Given the description of an element on the screen output the (x, y) to click on. 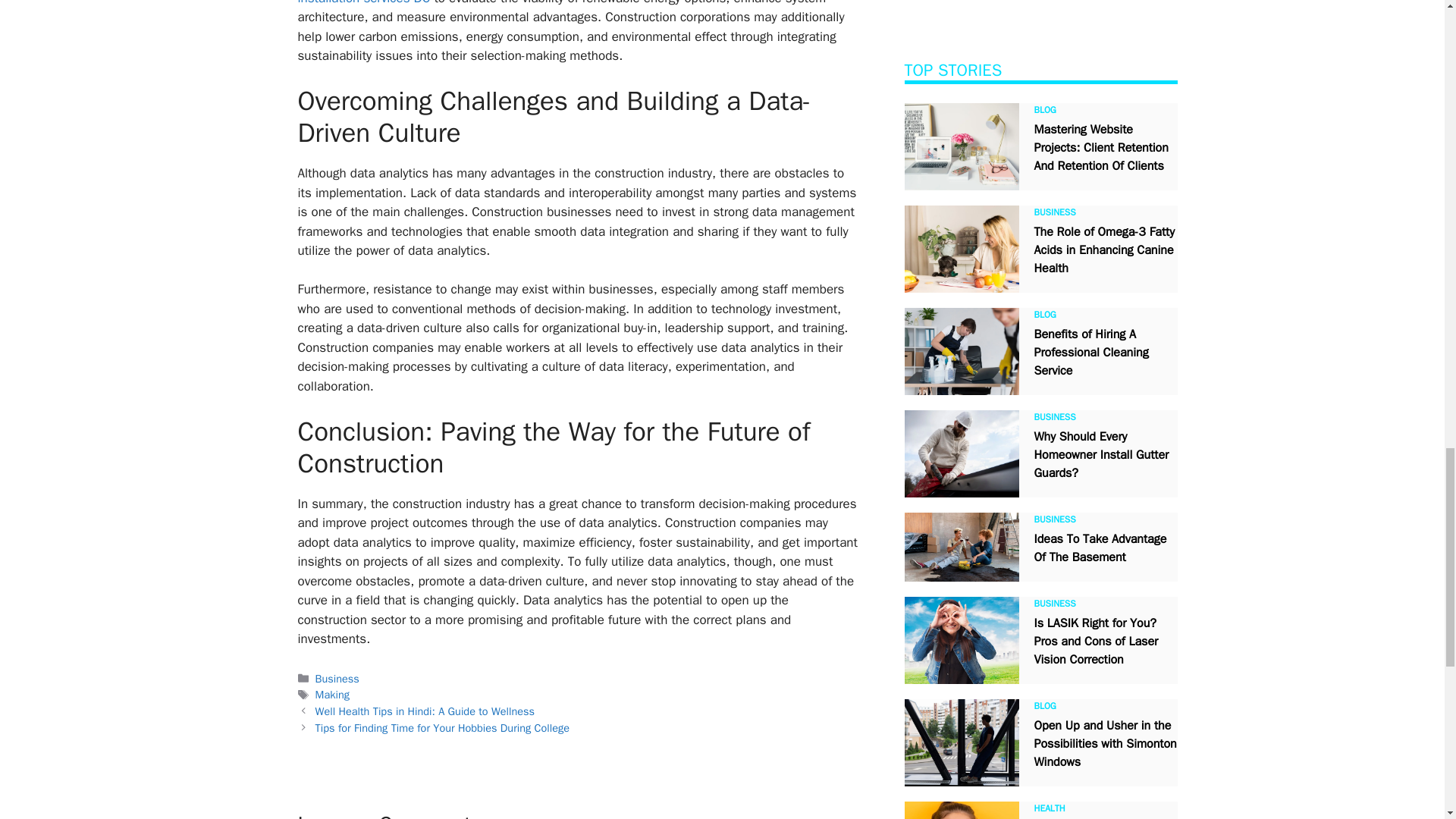
Well Health Tips in Hindi: A Guide to Wellness (424, 711)
Tips for Finding Time for Your Hobbies During College (442, 727)
Business (337, 678)
Making (332, 694)
